Given the description of an element on the screen output the (x, y) to click on. 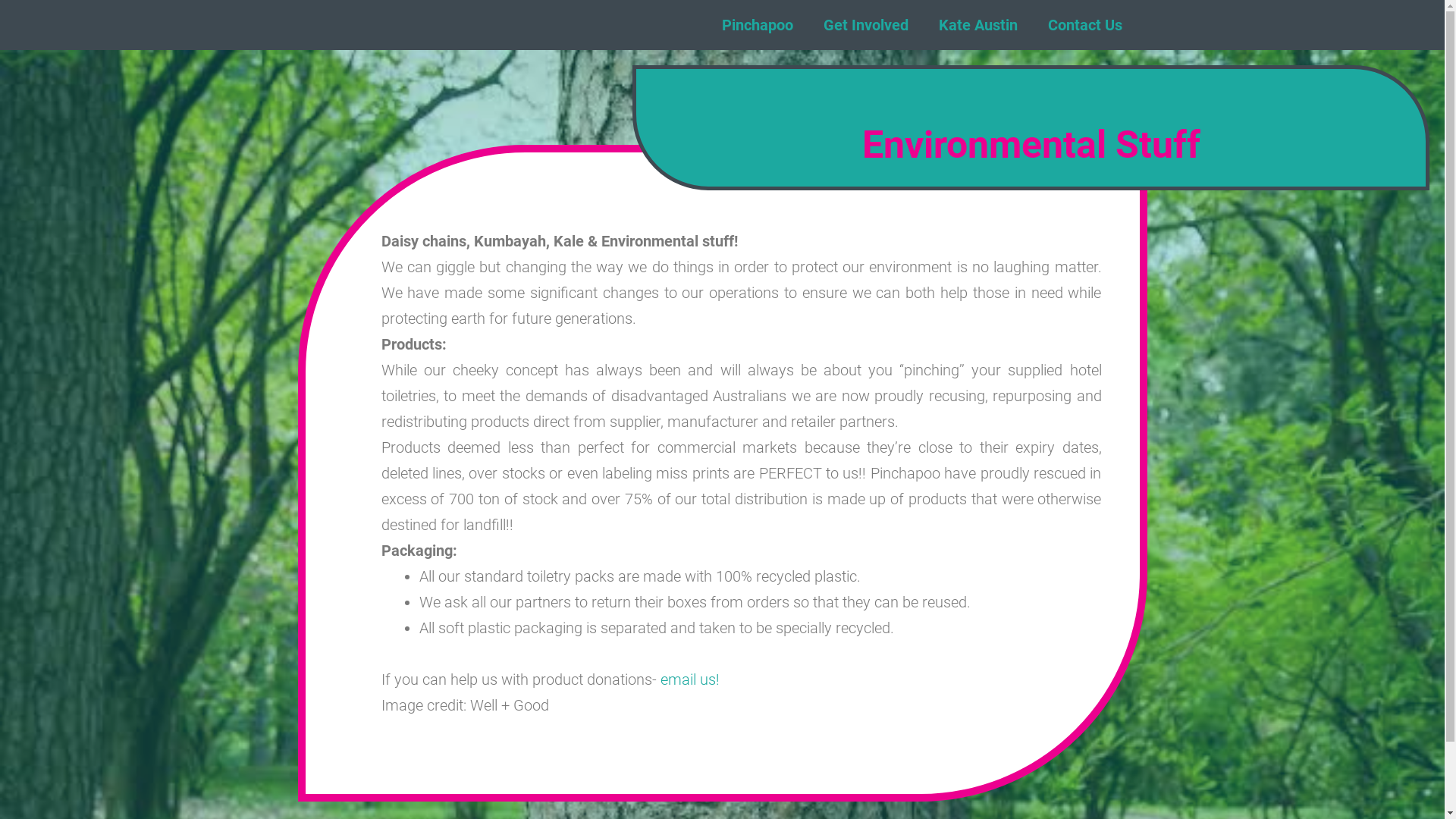
Kate Austin Element type: text (977, 24)
email us! Element type: text (688, 679)
Contact Us Element type: text (1084, 24)
Pinchapoo Element type: text (757, 24)
Get Involved Element type: text (865, 24)
